Given the description of an element on the screen output the (x, y) to click on. 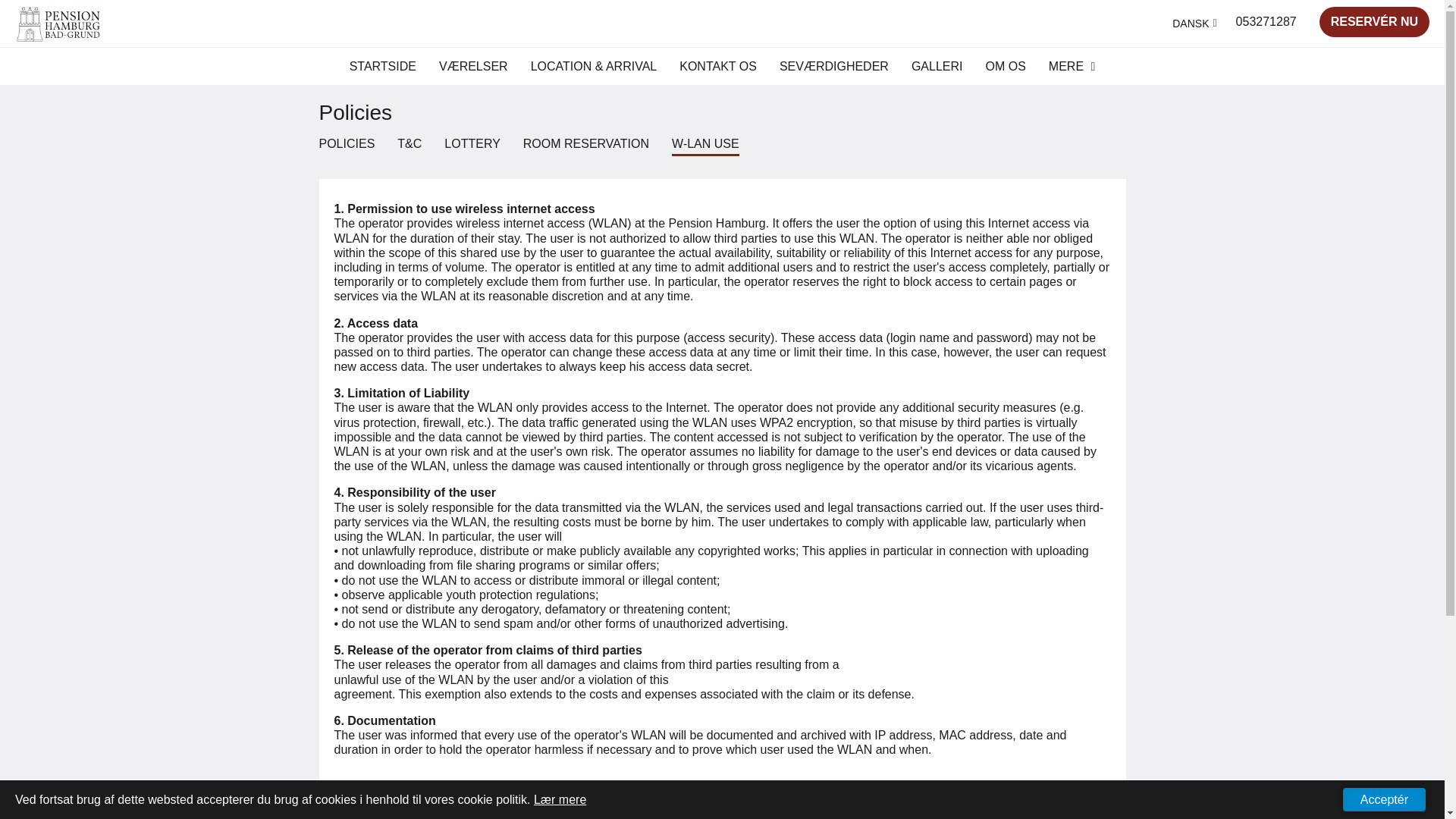
STARTSIDE (382, 66)
053271287 (1265, 21)
KONTAKT OS (718, 66)
DANSK (1193, 23)
OM OS (1005, 66)
GALLERI (936, 66)
